Given the description of an element on the screen output the (x, y) to click on. 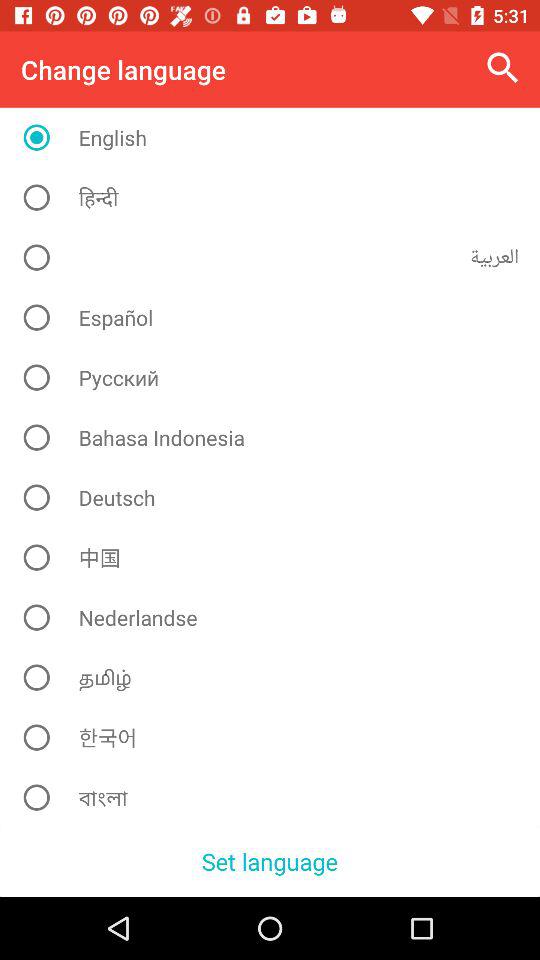
tap deutsch (277, 497)
